Given the description of an element on the screen output the (x, y) to click on. 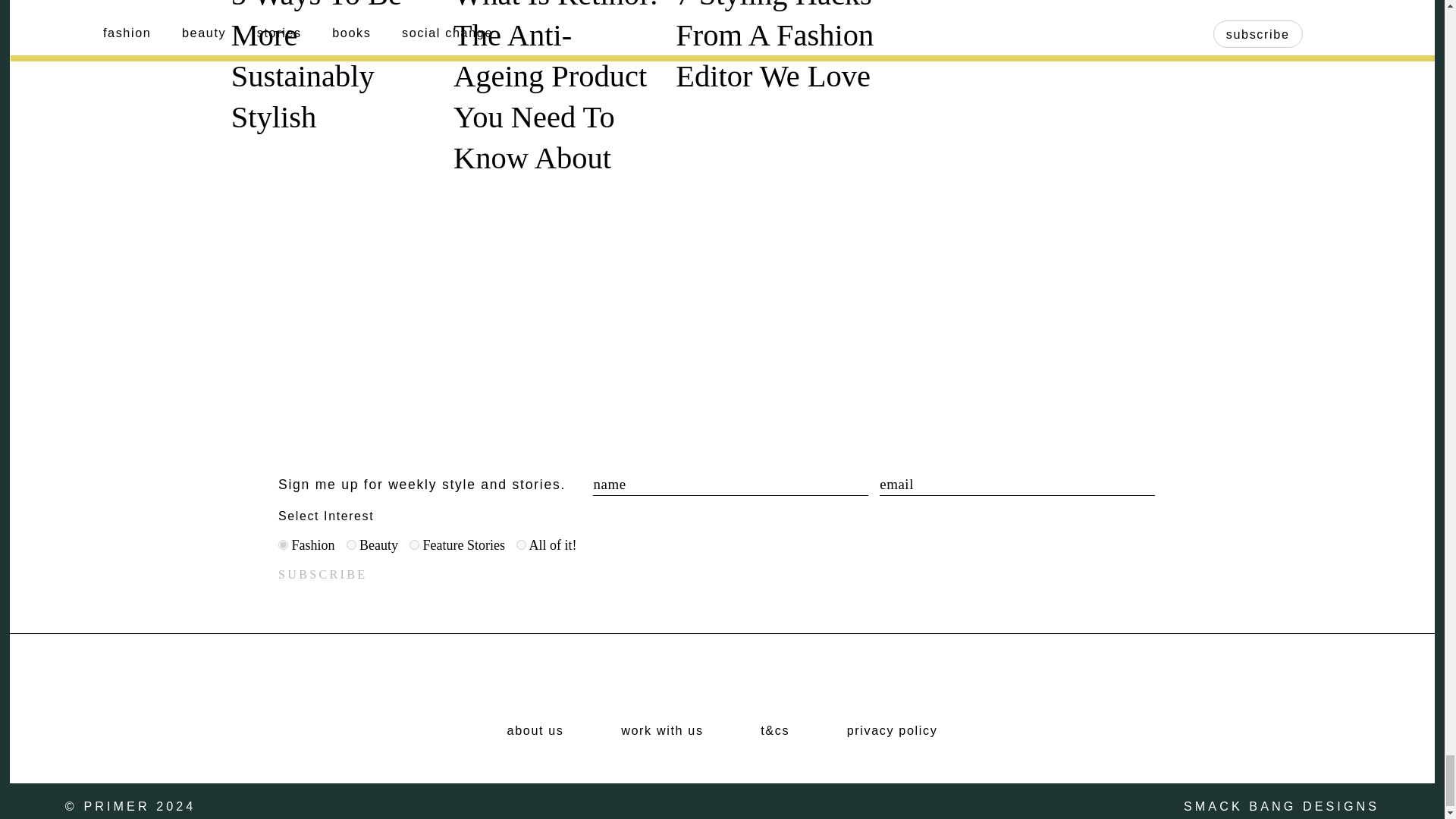
All of it! (520, 544)
5 Ways To Be More Sustainably Stylish (316, 67)
7 Styling Hacks From A Fashion Editor We Love   (774, 67)
Beauty (350, 544)
Feature Stories (414, 544)
Fashion (283, 544)
Subscribe (322, 574)
